Given the description of an element on the screen output the (x, y) to click on. 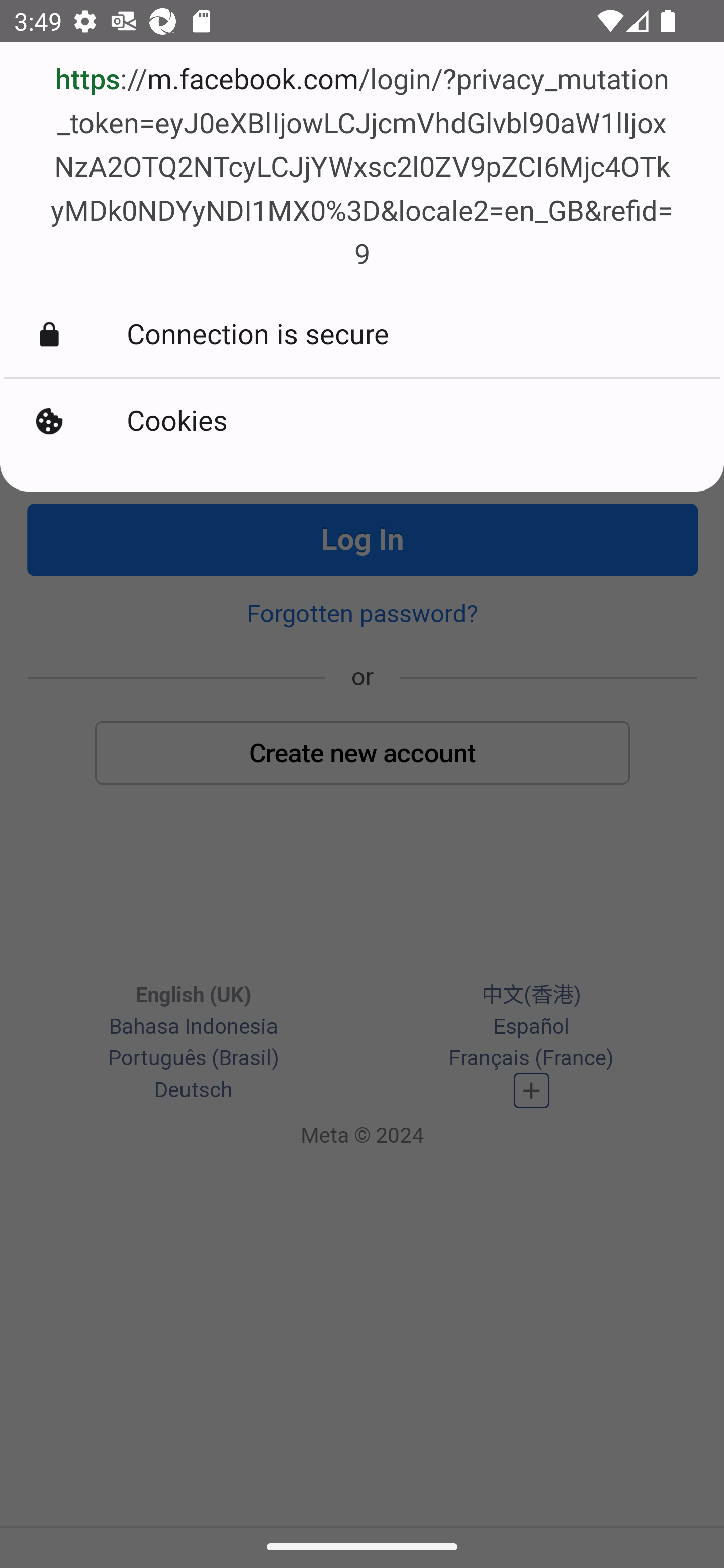
Connection is secure (362, 334)
Cookies (362, 421)
